Given the description of an element on the screen output the (x, y) to click on. 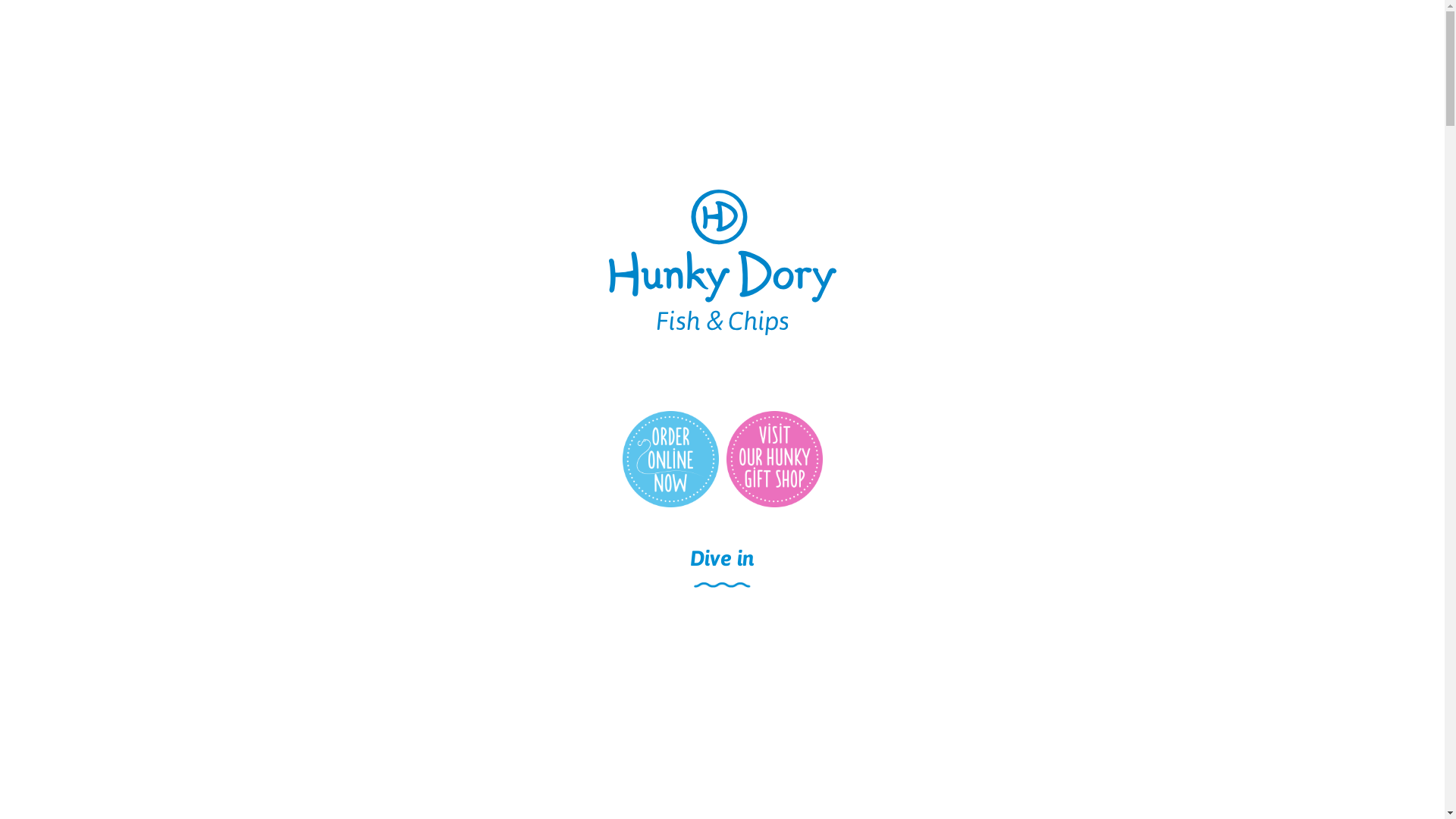
Dive in Element type: text (722, 558)
